Given the description of an element on the screen output the (x, y) to click on. 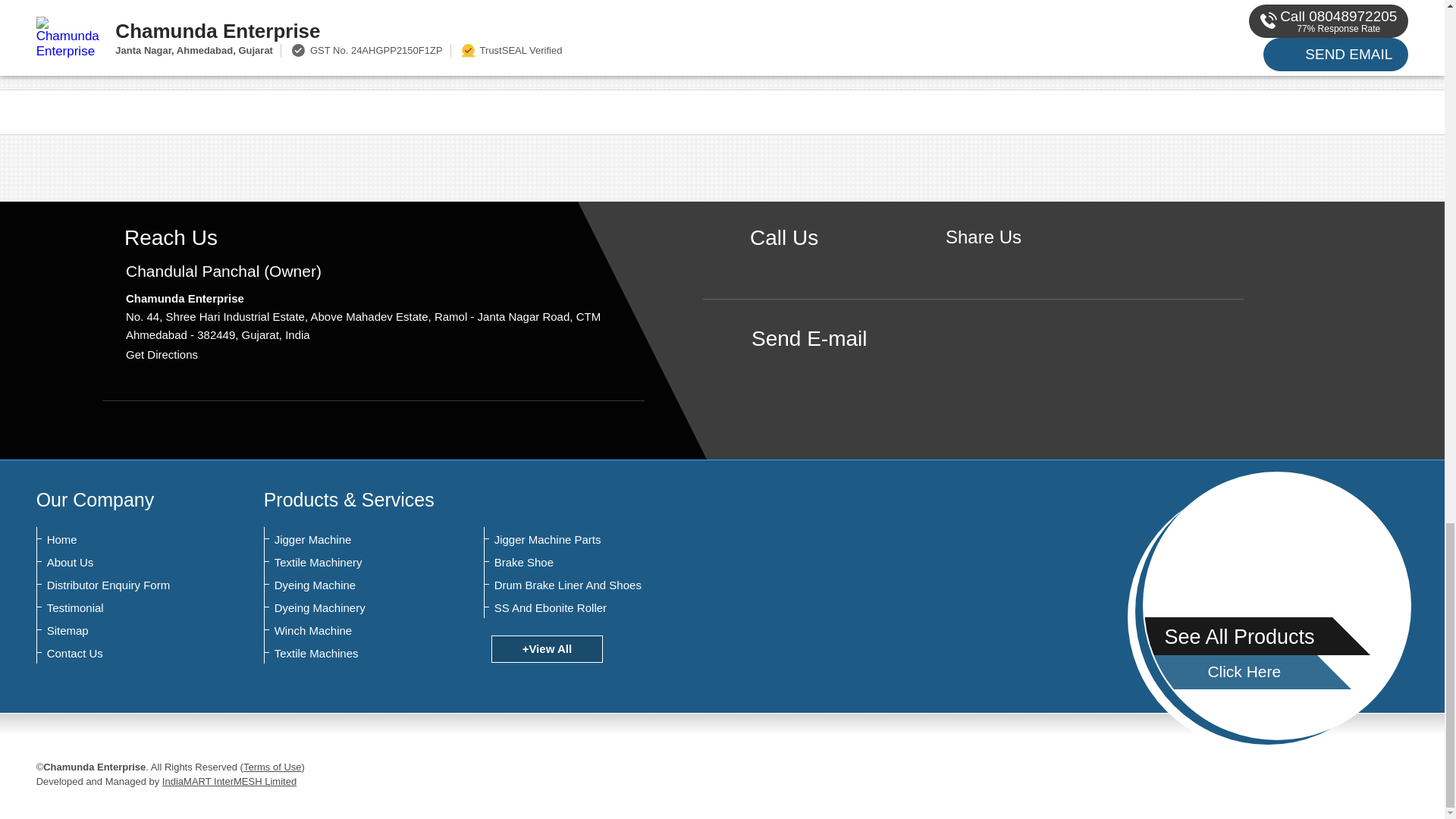
Testimonial (121, 607)
Twitter (1006, 262)
Sitemap (121, 630)
LinkedIn (1029, 262)
Get Directions (161, 354)
About Us (121, 562)
Contact Us (121, 653)
Home (121, 539)
Facebook (983, 262)
Distributor Enquiry Form (121, 585)
